Given the description of an element on the screen output the (x, y) to click on. 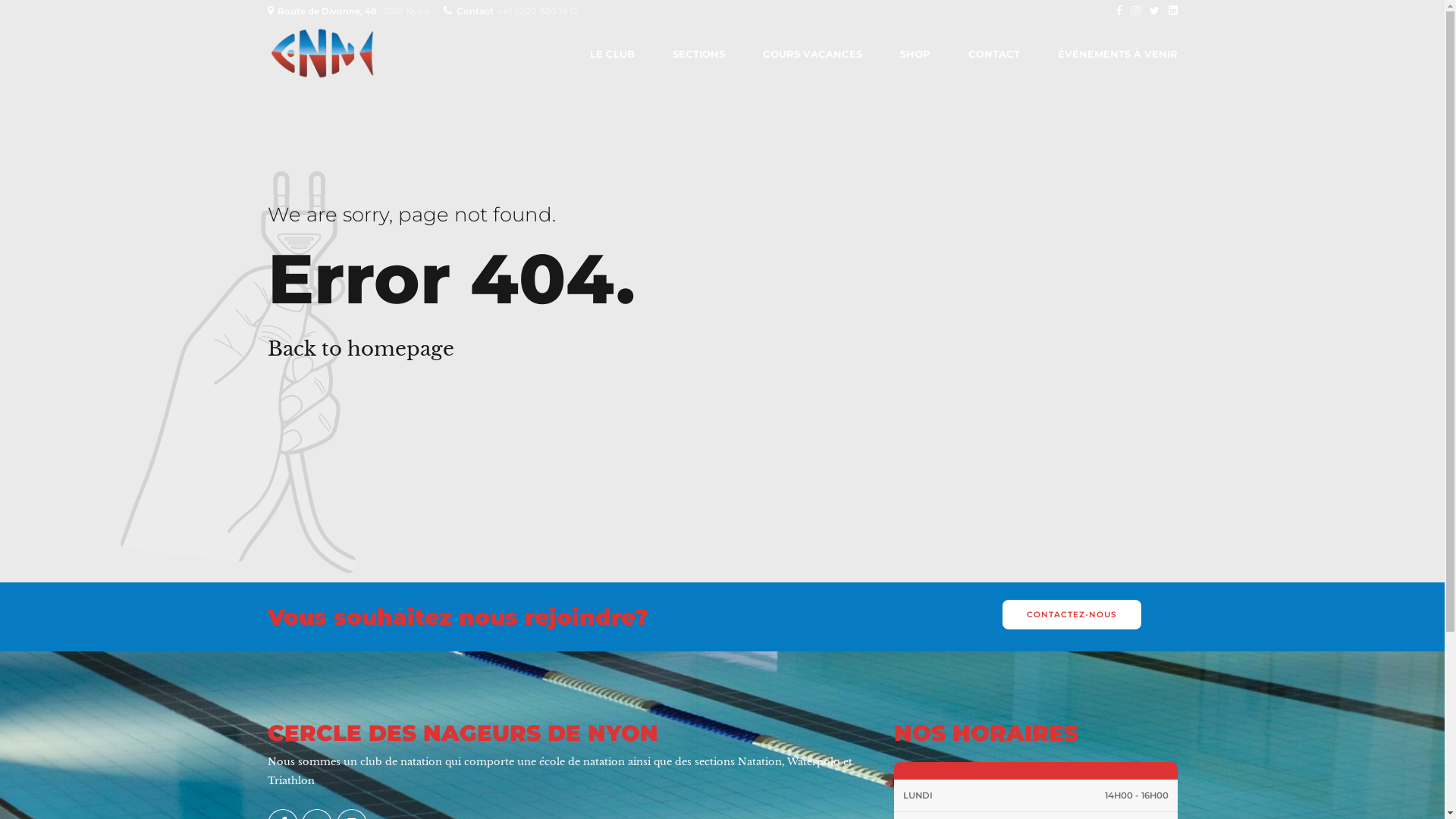
SHOP Element type: text (914, 53)
Back to homepage Element type: text (359, 348)
Contact+41 (0)22 820 19 12 Element type: text (513, 11)
SECTIONS Element type: text (697, 53)
LE CLUB Element type: text (611, 53)
CONTACT Element type: text (993, 53)
COURS VACANCES Element type: text (812, 53)
CONTACTEZ-NOUS Element type: text (1071, 614)
